Given the description of an element on the screen output the (x, y) to click on. 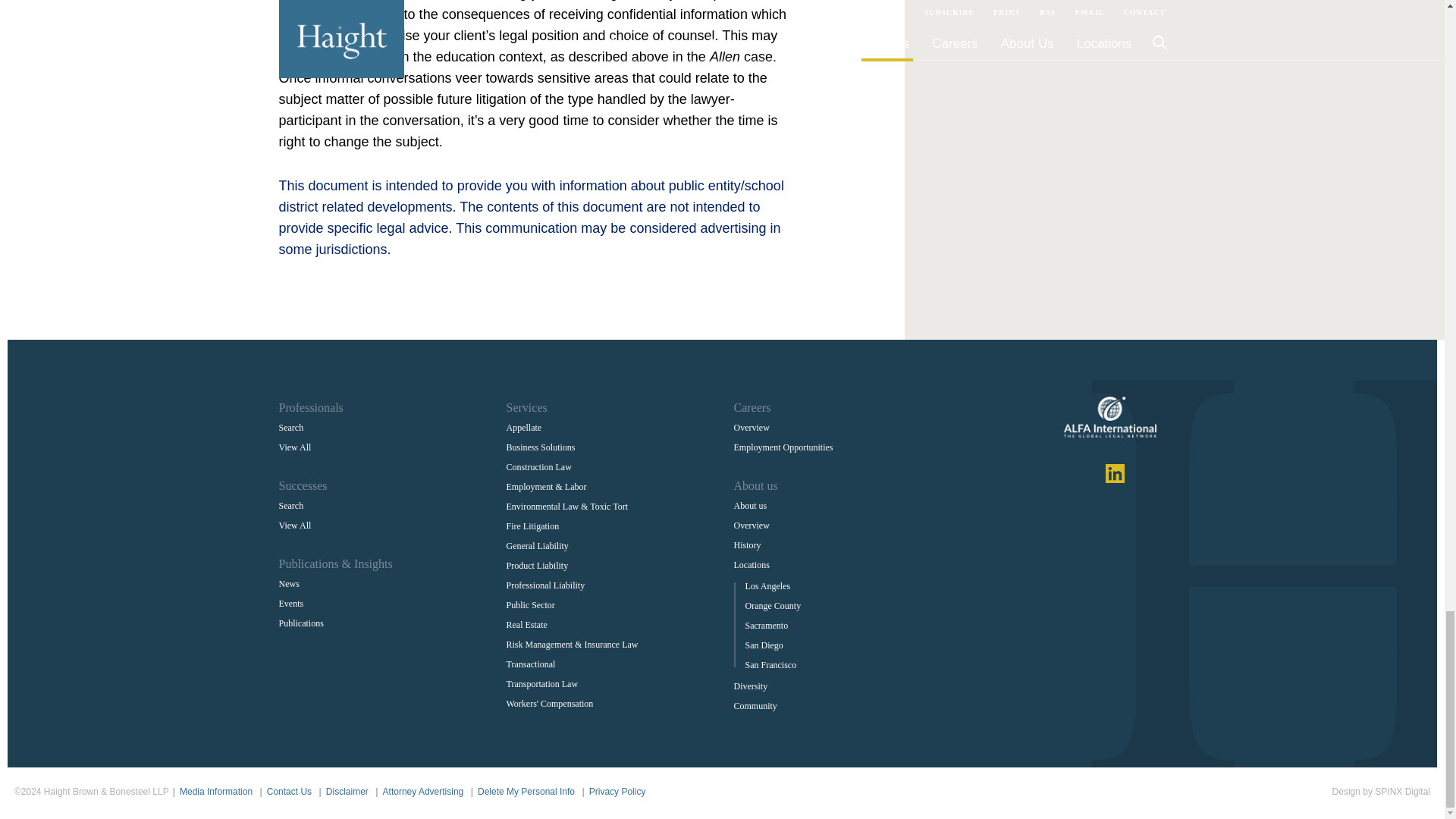
General Liability (537, 545)
Public Sector (530, 604)
Professional Liability (545, 585)
Business Solutions (540, 447)
Appellate (523, 427)
Product Liability (537, 565)
Search (291, 427)
Construction Law (539, 467)
Fire Litigation (532, 526)
Real Estate (526, 624)
